Given the description of an element on the screen output the (x, y) to click on. 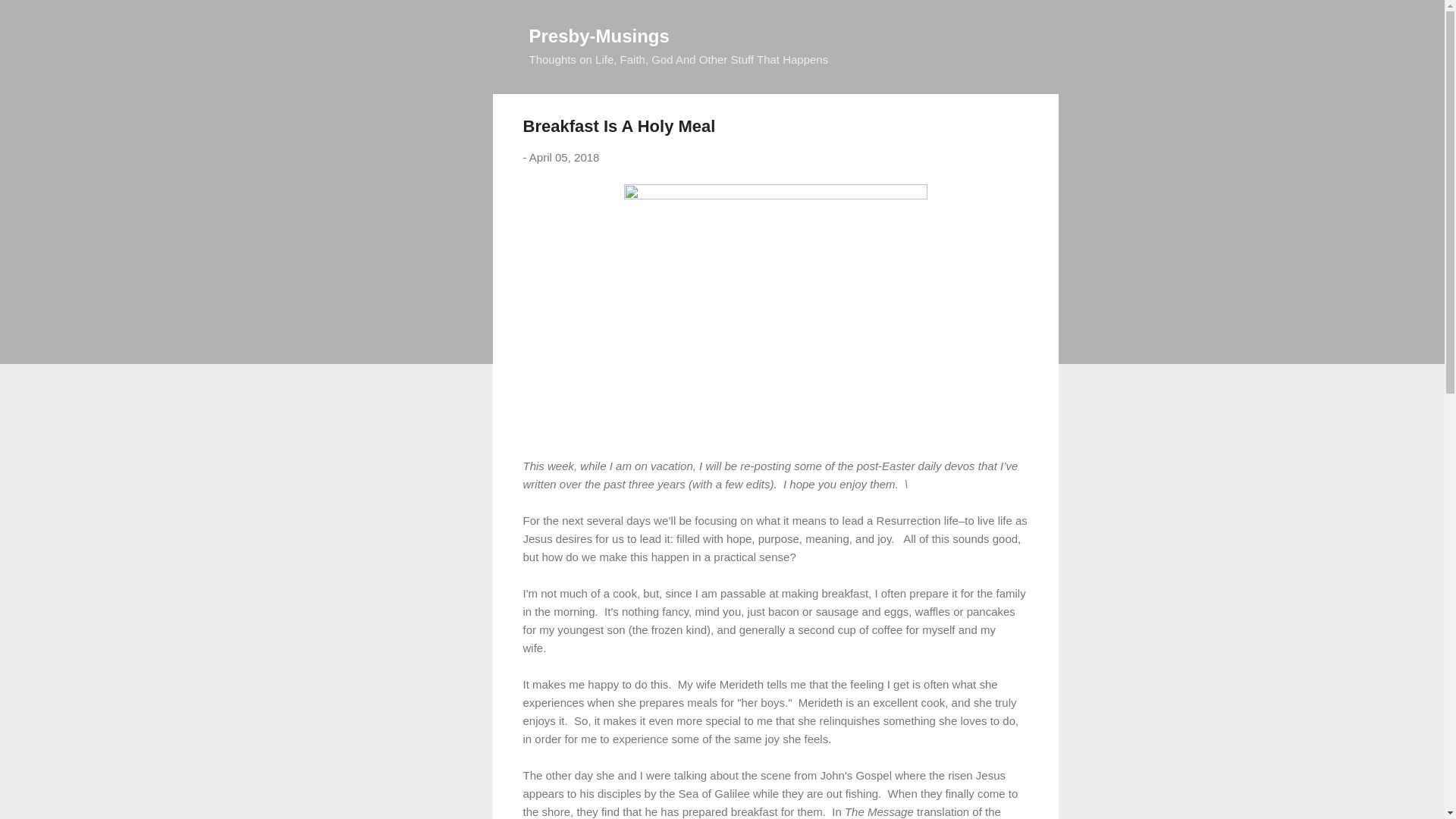
April 05, 2018 (564, 156)
Presby-Musings (599, 35)
Search (29, 18)
permanent link (564, 156)
